Given the description of an element on the screen output the (x, y) to click on. 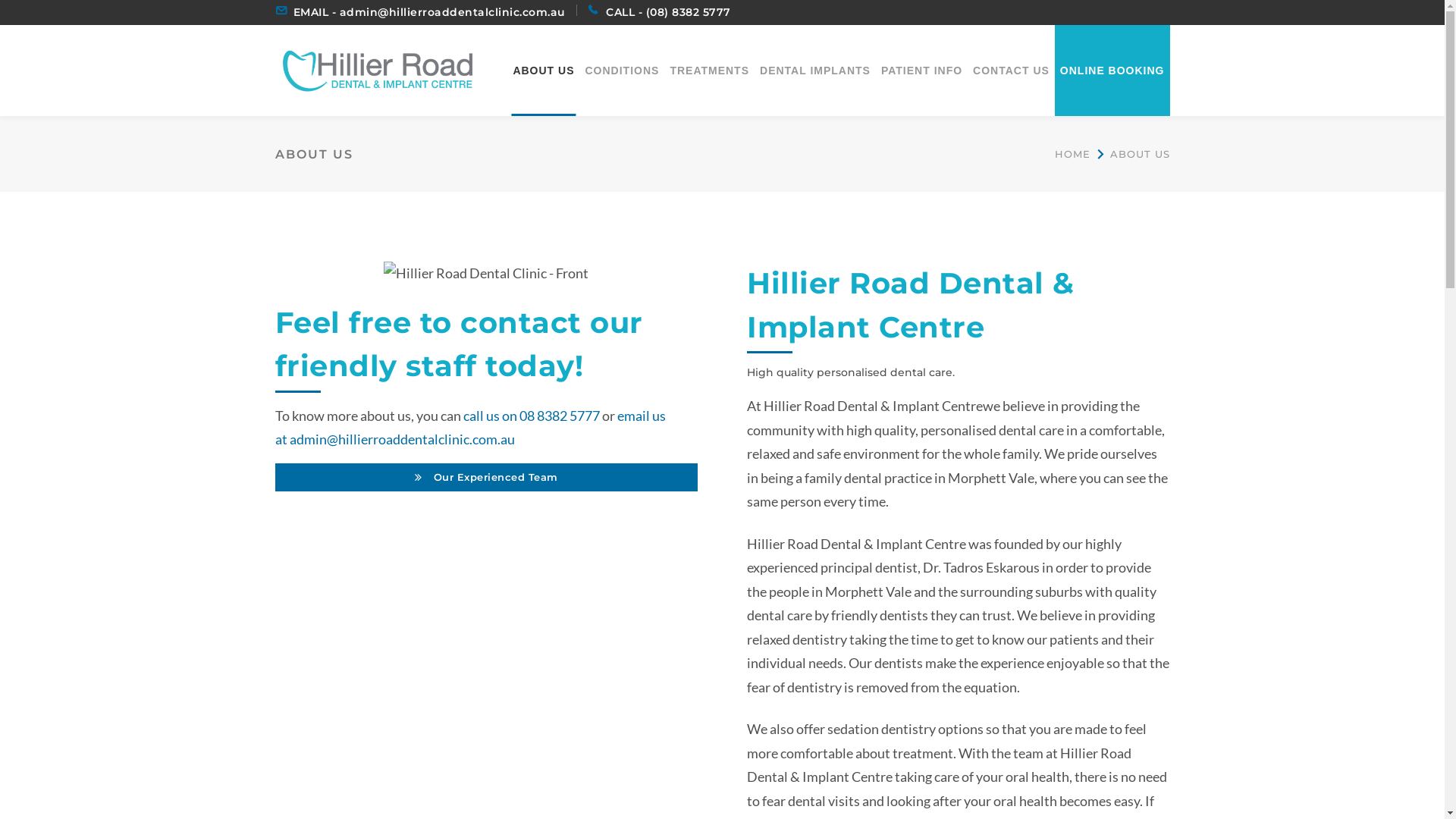
CALL - (08) 8382 5777 Element type: text (668, 11)
Hillier Road Dental & Implant Centre Element type: hover (376, 67)
call us on 08 8382 5777 Element type: text (530, 415)
EMAIL - admin@hillierroaddentalclinic.com.au Element type: text (428, 11)
Our Experienced Team Element type: text (485, 477)
ABOUT US Element type: text (543, 70)
DENTAL IMPLANTS Element type: text (815, 70)
PATIENT INFO Element type: text (921, 70)
CONTACT US Element type: text (1011, 70)
email us at admin@hillierroaddentalclinic.com.au Element type: text (469, 427)
TREATMENTS Element type: text (709, 70)
CONDITIONS Element type: text (622, 70)
ONLINE BOOKING Element type: text (1112, 70)
HOME Element type: text (1071, 154)
